Given the description of an element on the screen output the (x, y) to click on. 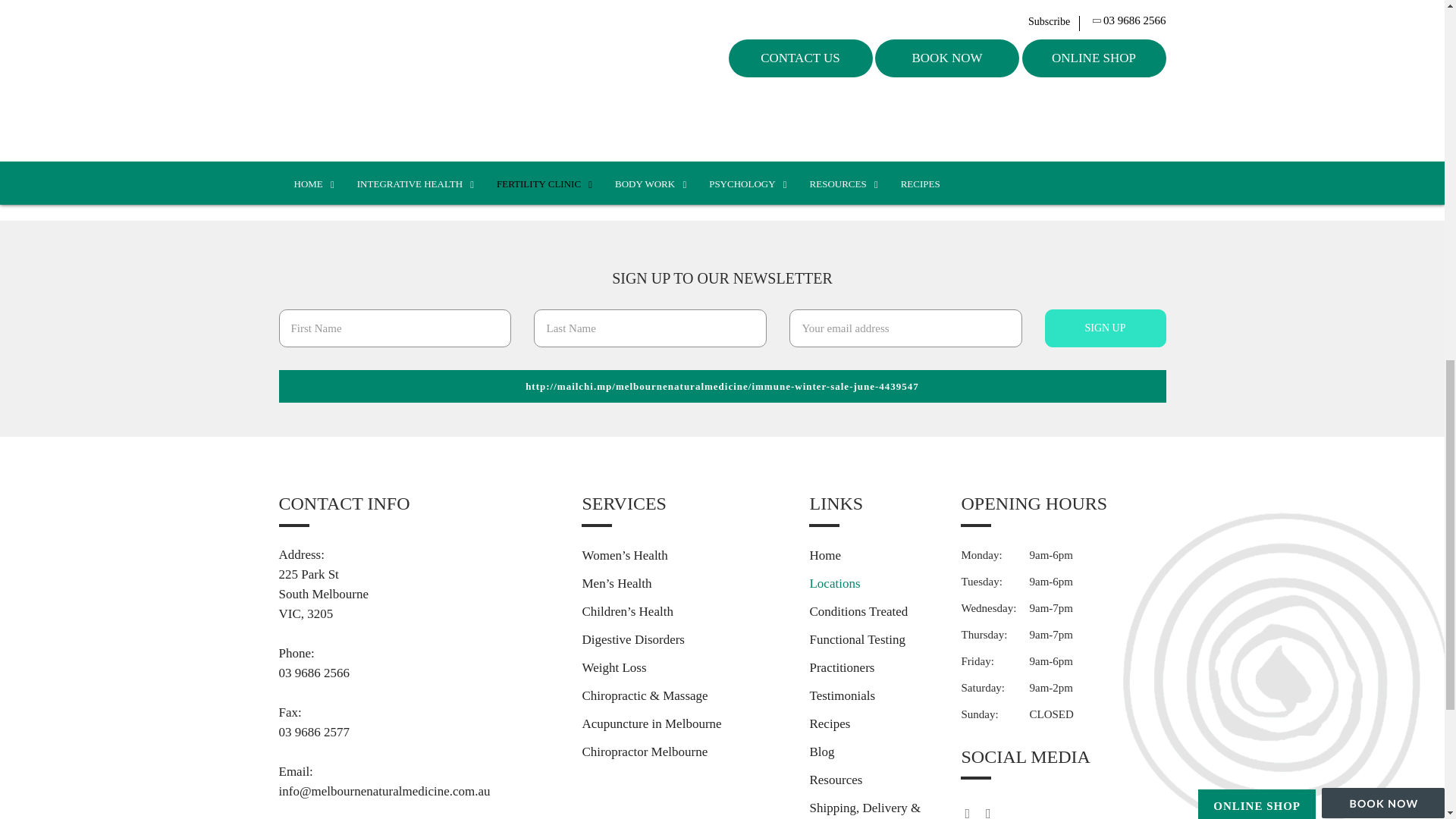
03 9686 2577 (419, 732)
Sign up (1105, 328)
03 9686 2566 (419, 673)
